Given the description of an element on the screen output the (x, y) to click on. 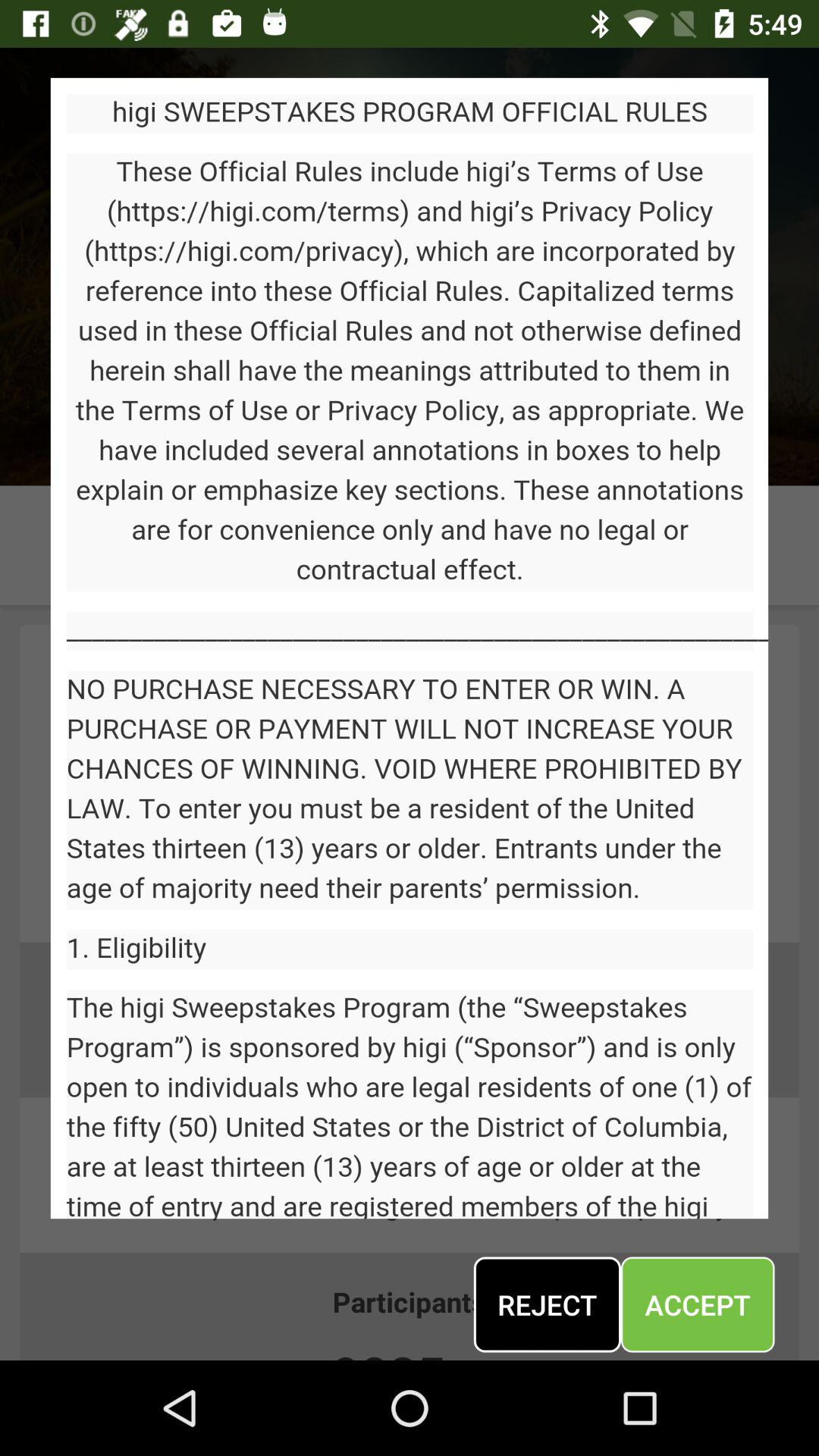
display screen (409, 647)
